Given the description of an element on the screen output the (x, y) to click on. 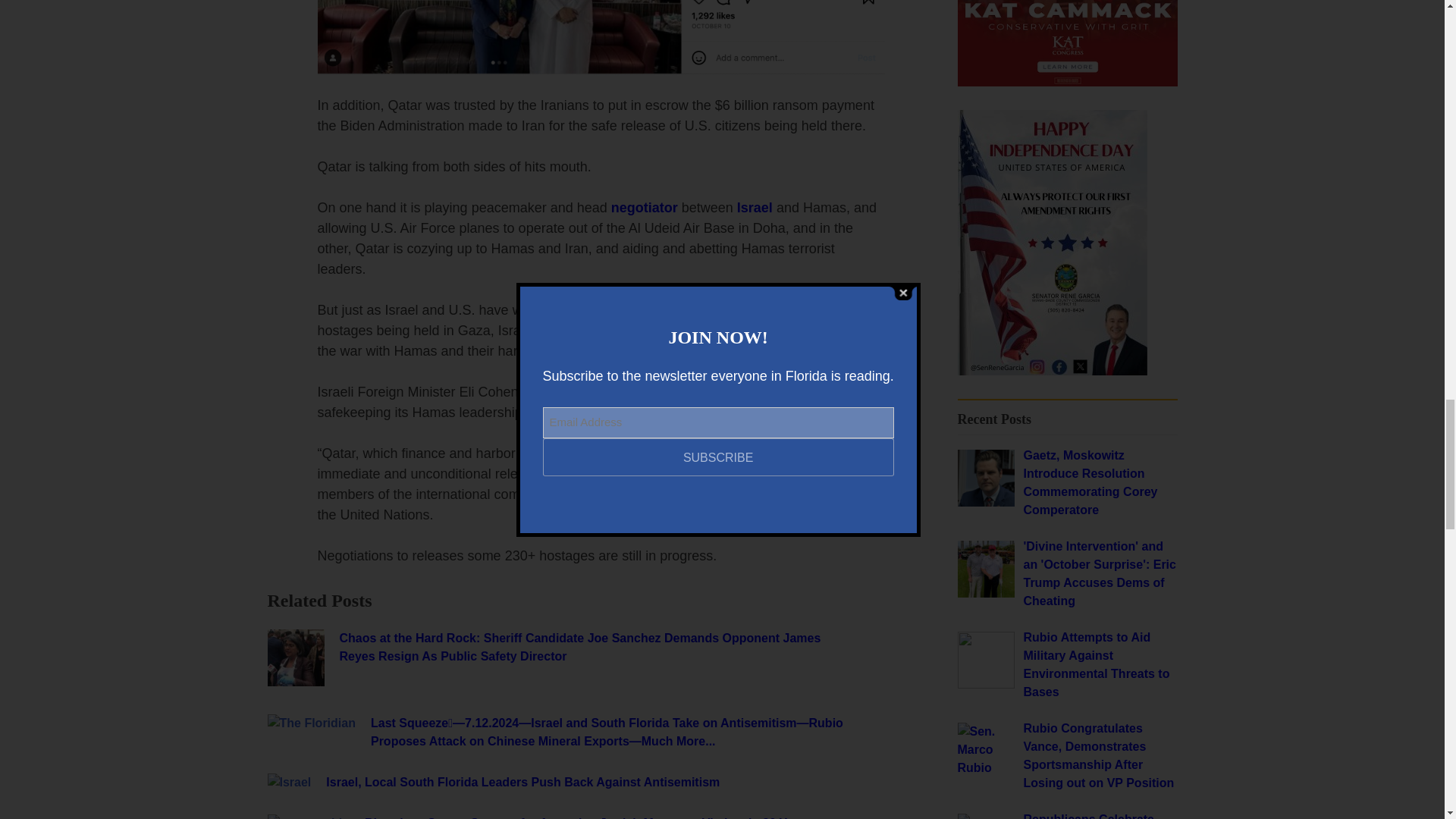
Partnering To Reduce Recidivism (1066, 82)
negotiator (644, 207)
Partnering To Reduce Recidivism (1066, 42)
Israel (754, 207)
Partnering To Reduce Recidivism (1051, 370)
